Given the description of an element on the screen output the (x, y) to click on. 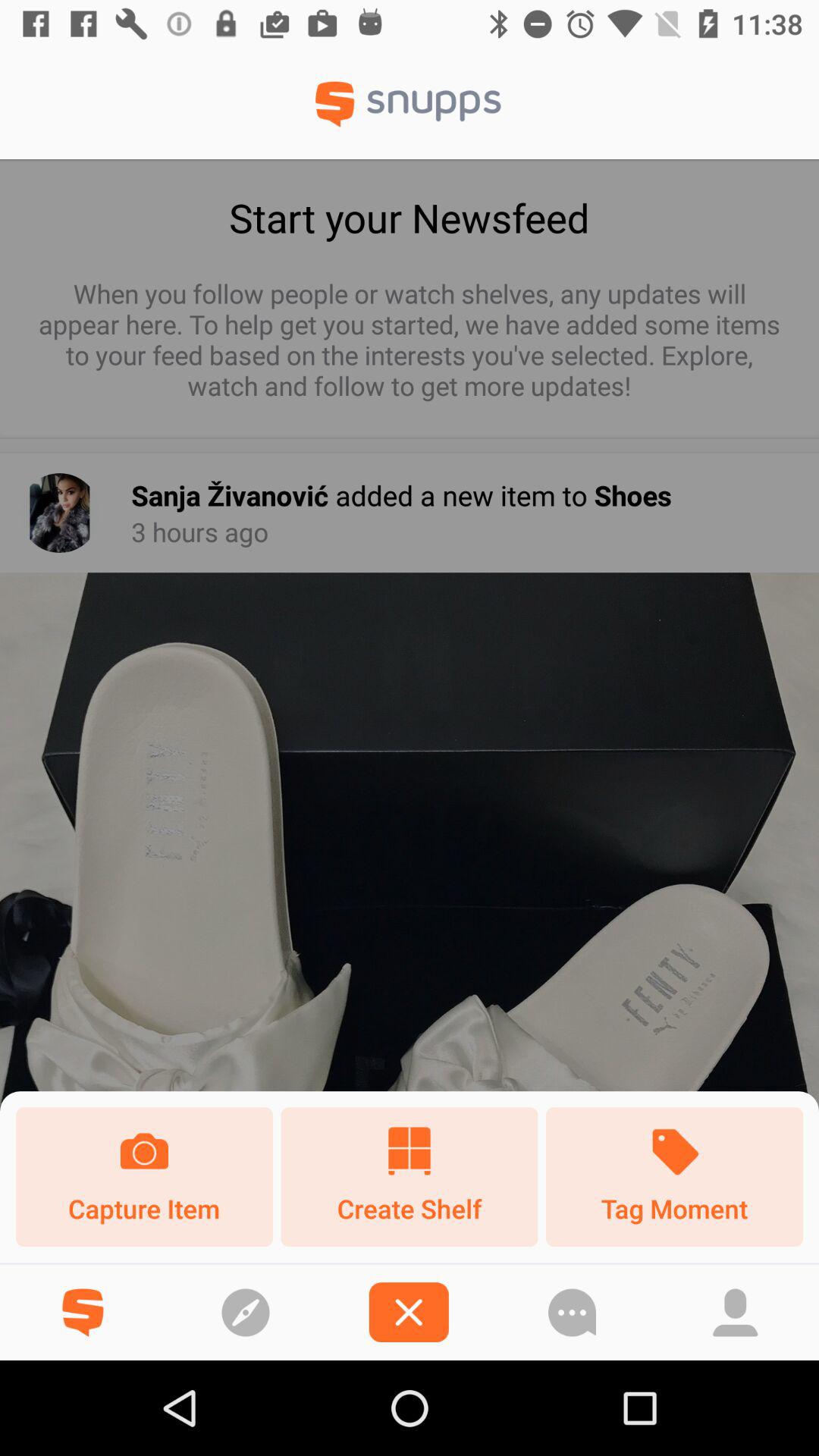
close (408, 1312)
